Given the description of an element on the screen output the (x, y) to click on. 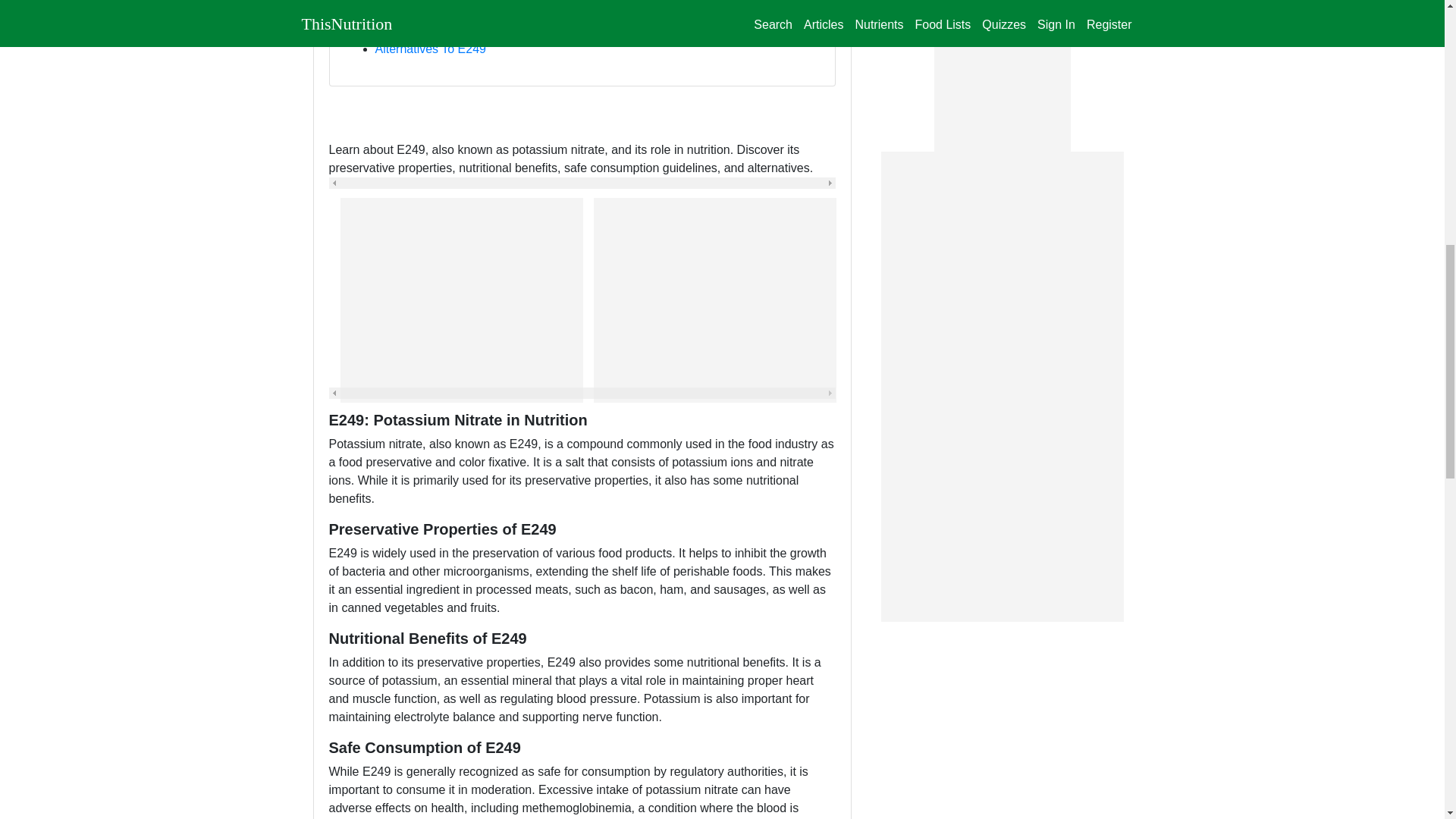
Alternatives To E249 (429, 48)
Nutritional Benefits Of E249 (449, 11)
Safe Consumption Of E249 (448, 30)
